Given the description of an element on the screen output the (x, y) to click on. 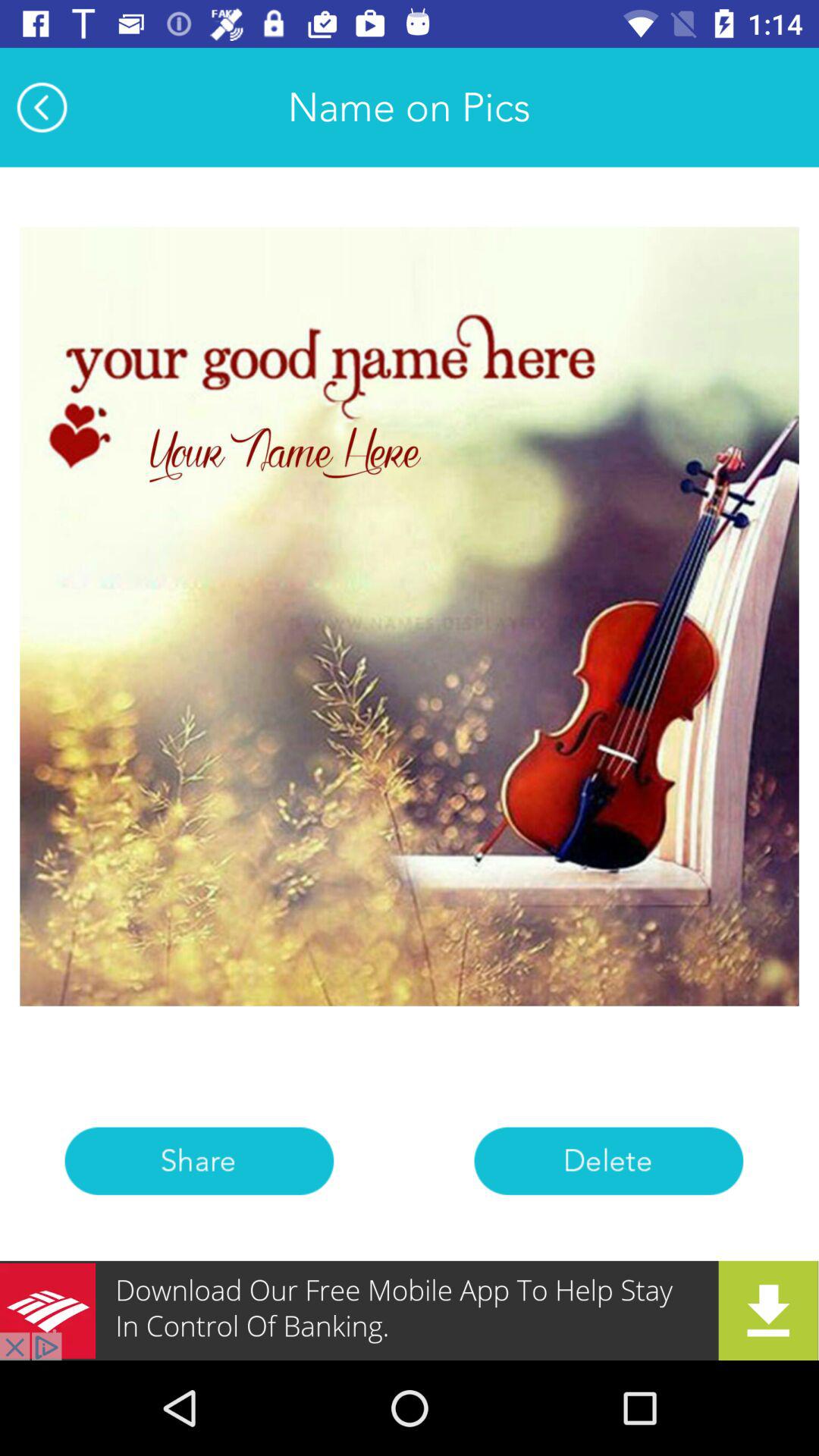
share button (198, 1160)
